Given the description of an element on the screen output the (x, y) to click on. 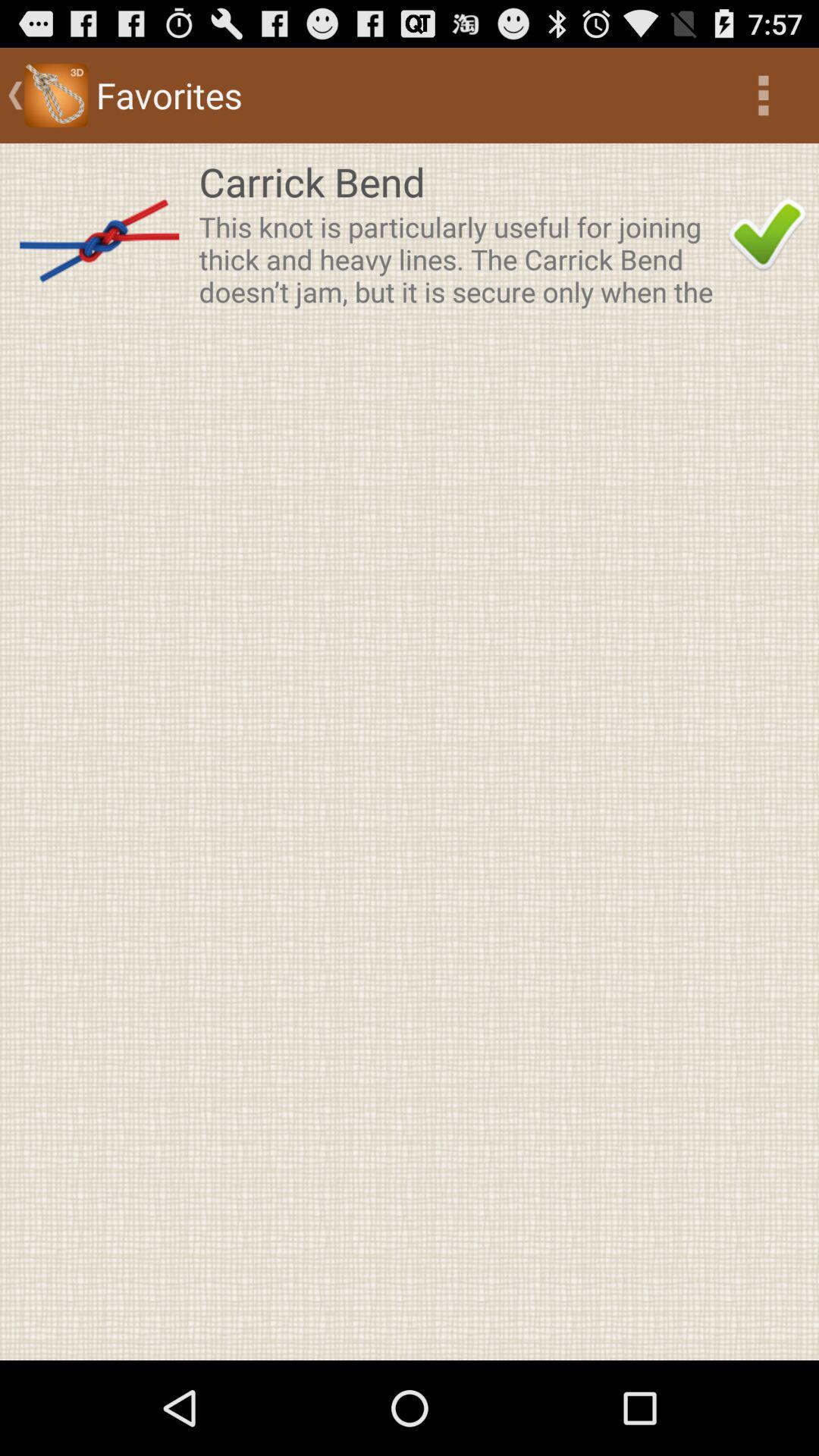
choose app next to the carrick bend (767, 234)
